Given the description of an element on the screen output the (x, y) to click on. 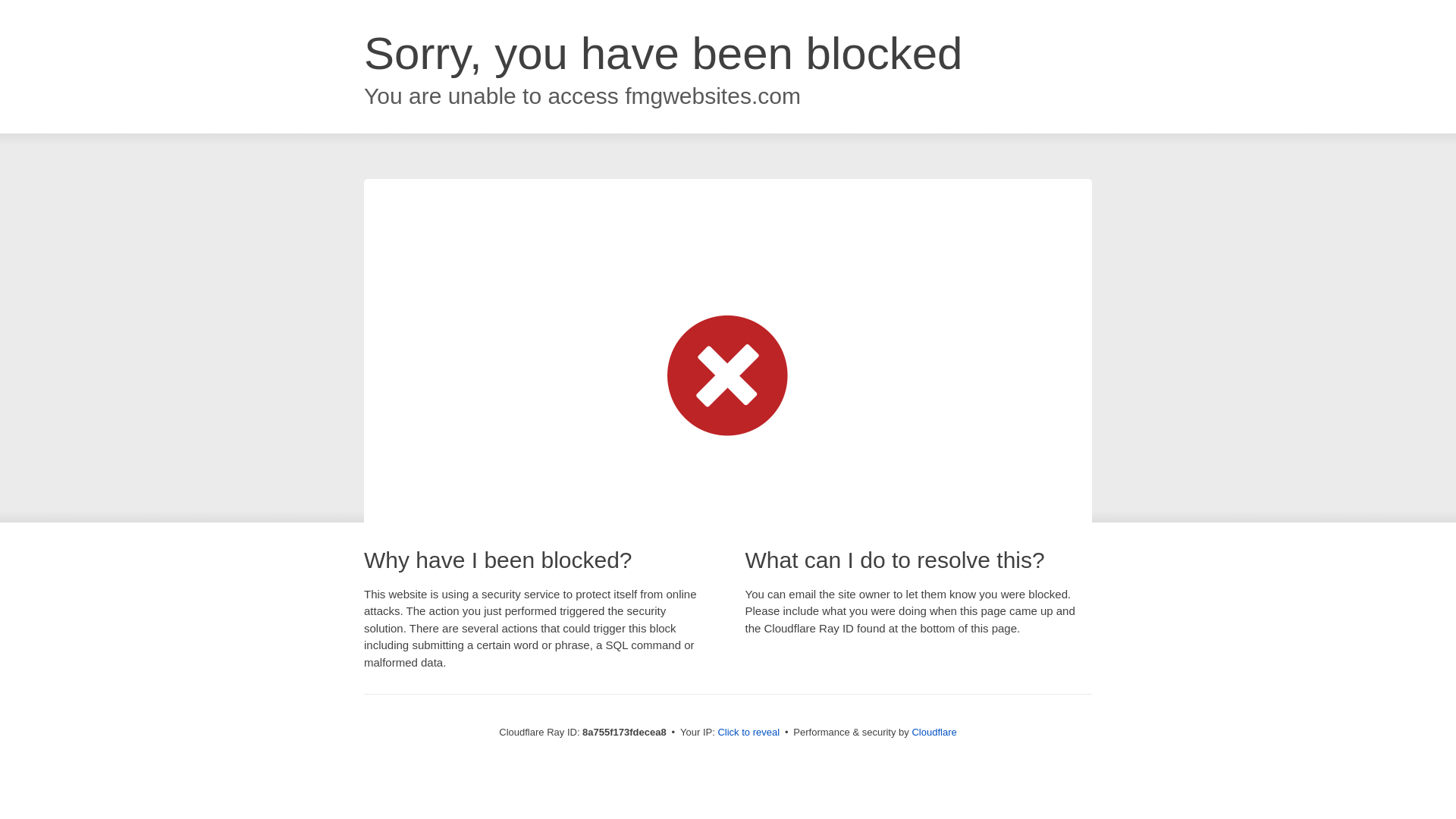
Cloudflare (933, 731)
Click to reveal (747, 732)
